Given the description of an element on the screen output the (x, y) to click on. 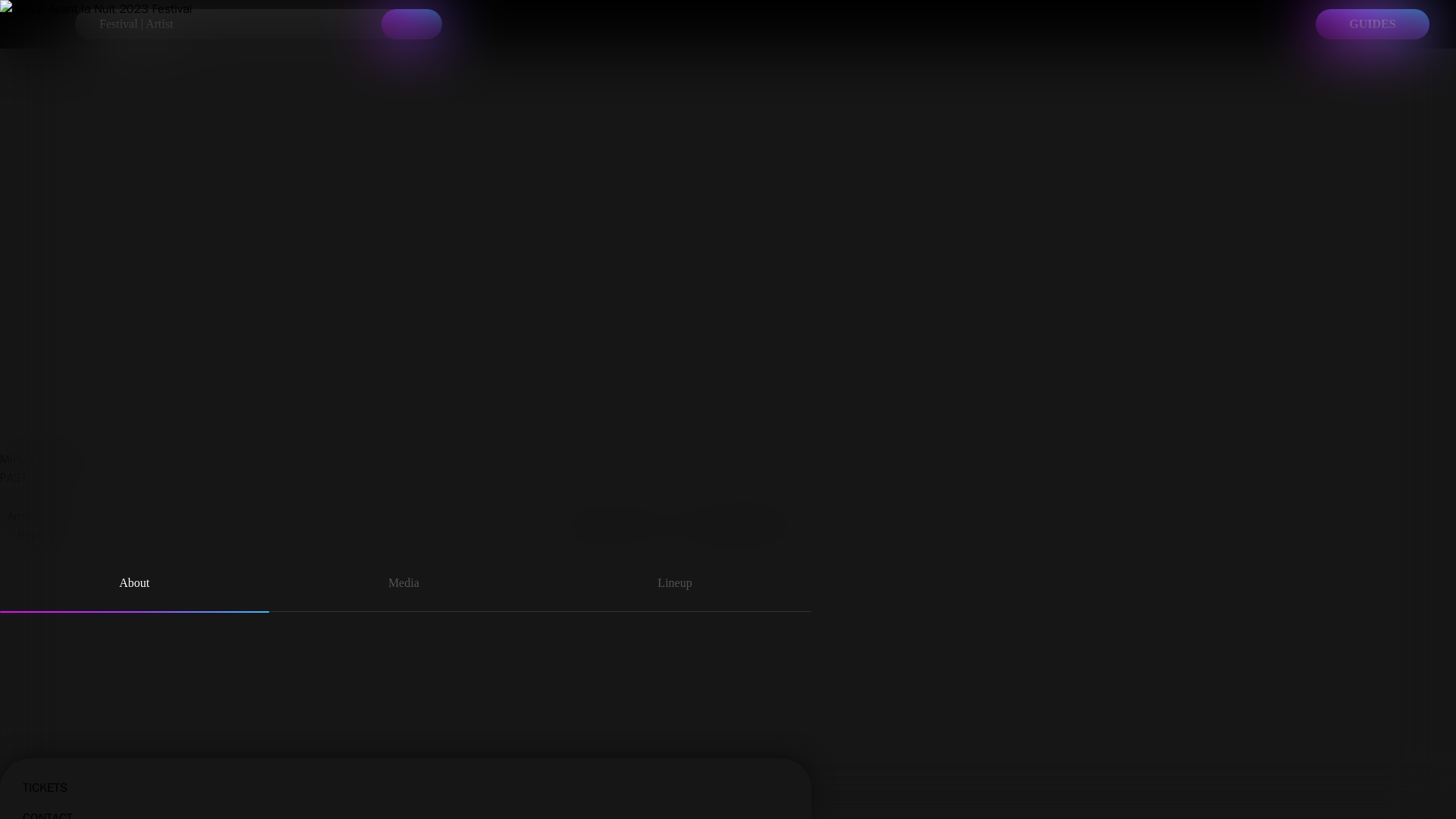
Media (403, 584)
TICKETS (406, 773)
About (134, 584)
GUIDES (1372, 24)
Lineup (674, 584)
